Given the description of an element on the screen output the (x, y) to click on. 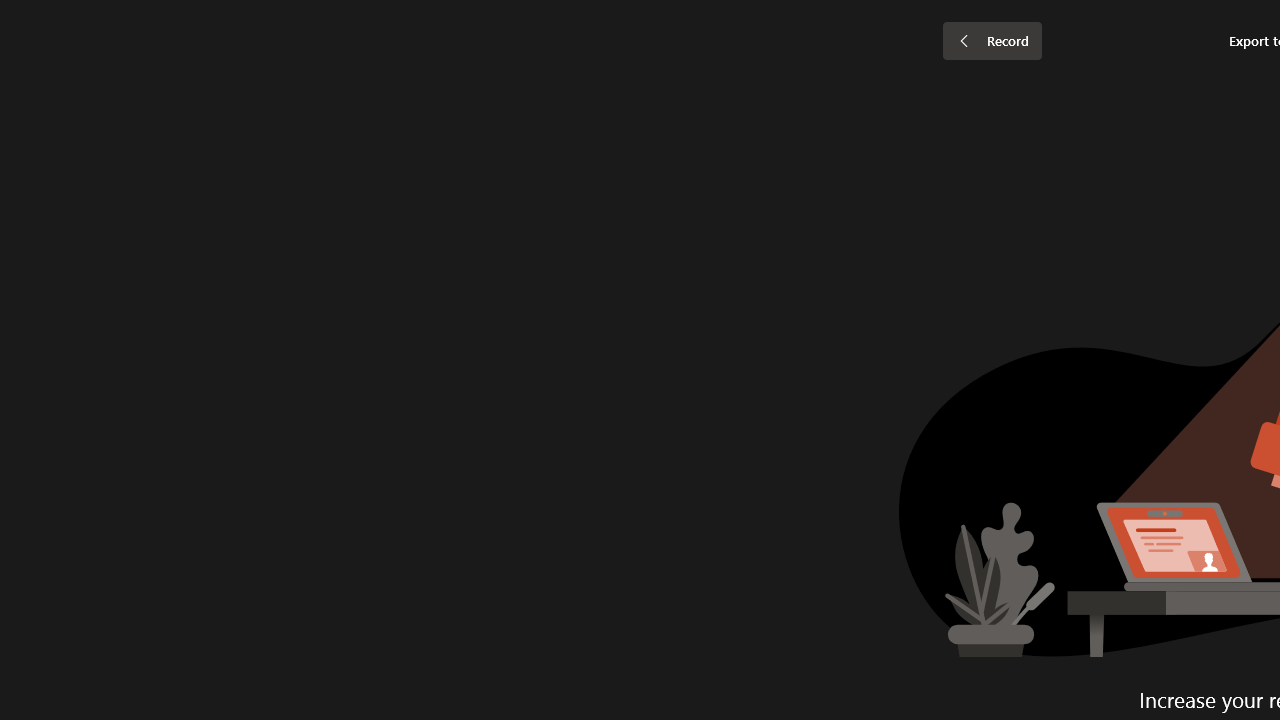
Save as Show (539, 102)
Audio (341, 102)
From Current Slide... (224, 102)
Export to Video (585, 102)
